Given the description of an element on the screen output the (x, y) to click on. 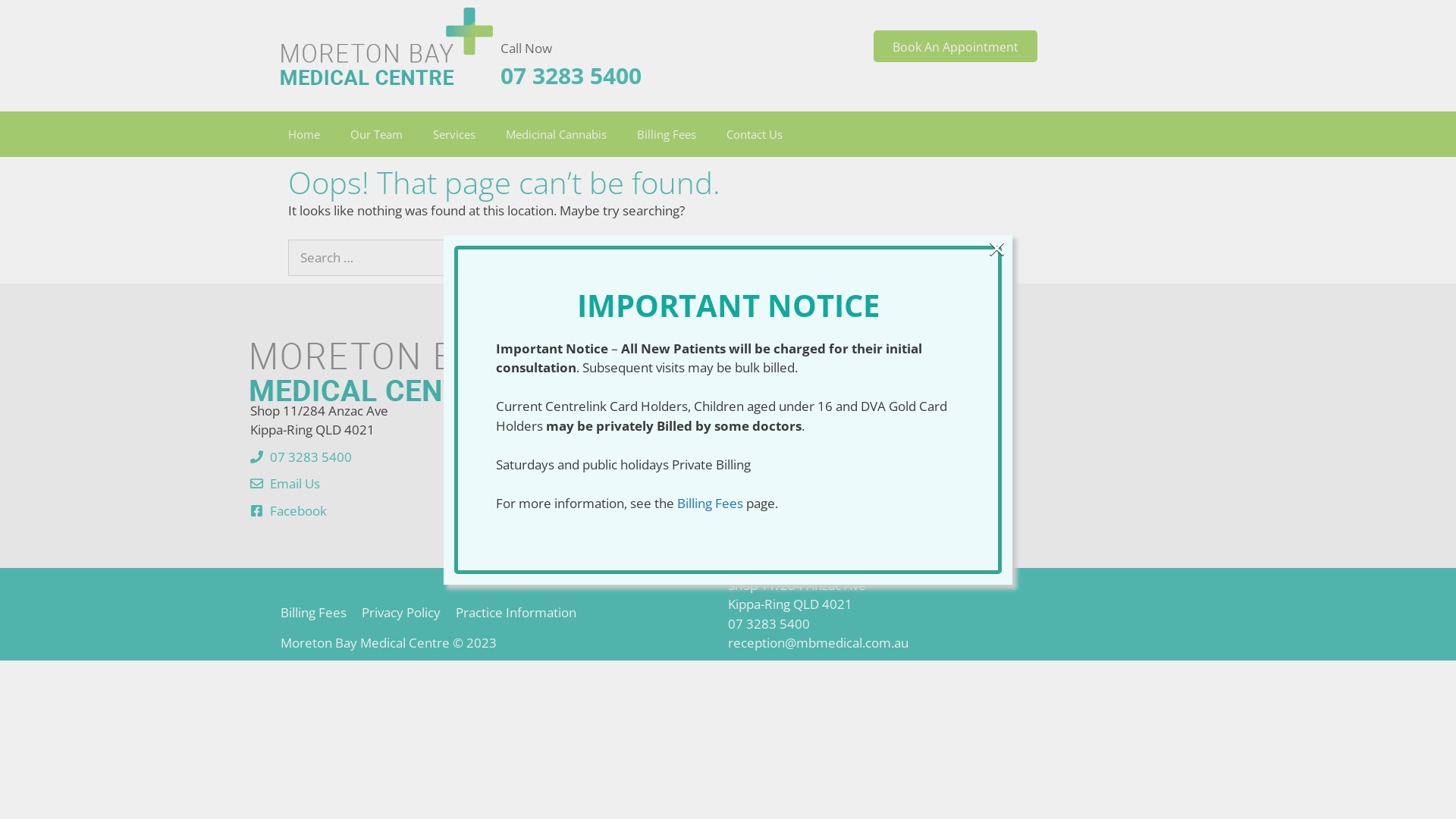
07 3283 5400 Element type: text (570, 74)
Billing Fees Element type: text (710, 502)
Practice Information Element type: text (515, 612)
reception@mbmedical.com.au Element type: text (818, 642)
07 3283 5400 Element type: text (310, 455)
Privacy Policy Element type: text (400, 612)
Email Us Element type: text (294, 483)
Contact Us Element type: text (754, 133)
Facebook Element type: text (297, 510)
Services Element type: text (453, 133)
Our Team Element type: text (376, 133)
Billing Fees Element type: text (313, 612)
Medicinal Cannabis Element type: text (555, 133)
Billing Fees Element type: text (666, 133)
Search for: Element type: hover (381, 257)
07 3283 5400 Element type: text (768, 622)
Home Element type: text (304, 133)
